Given the description of an element on the screen output the (x, y) to click on. 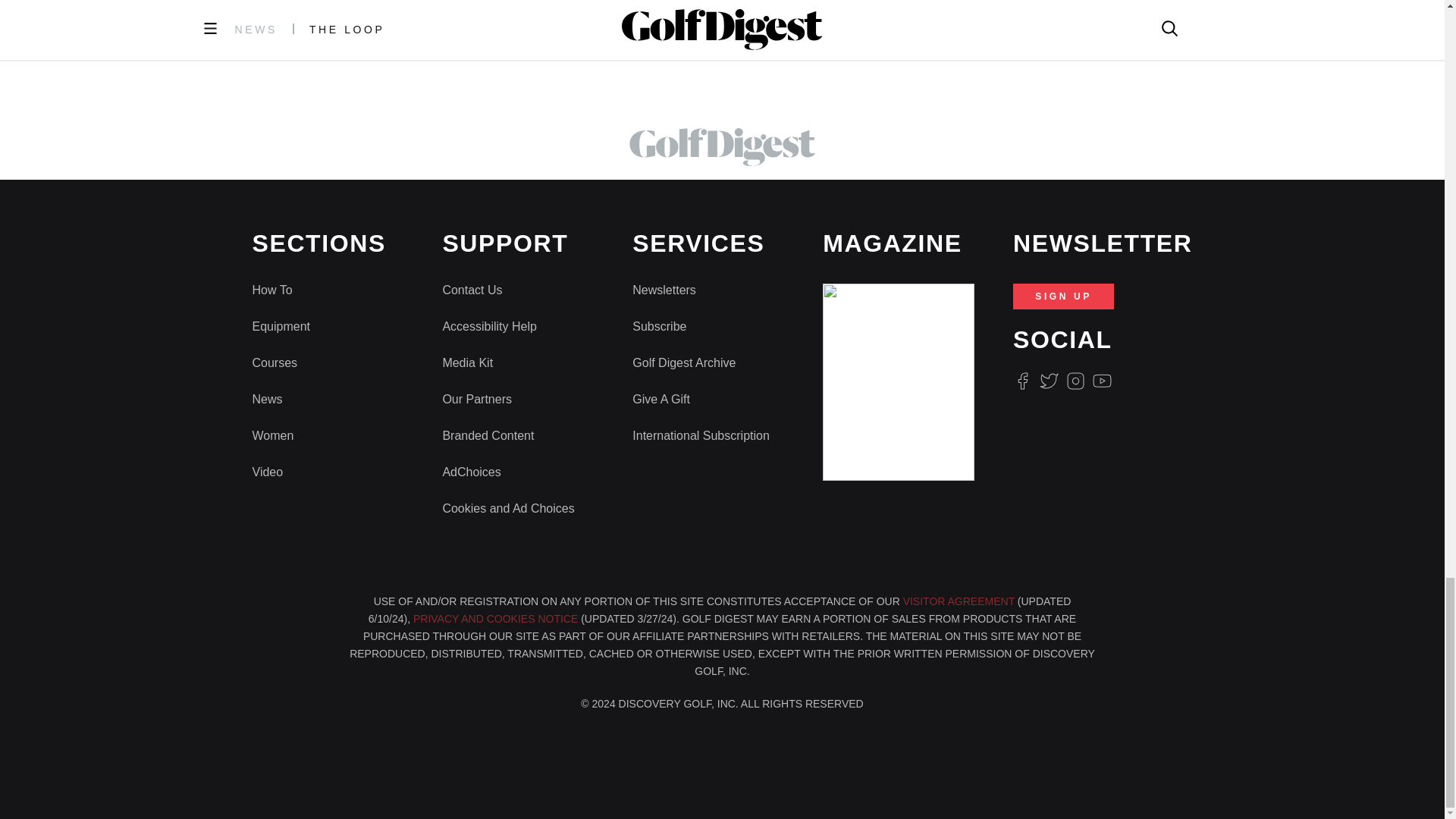
Instagram Logo (1074, 380)
Youtube Icon (1102, 380)
Facebook Logo (1022, 380)
Twitter Logo (1048, 380)
